Given the description of an element on the screen output the (x, y) to click on. 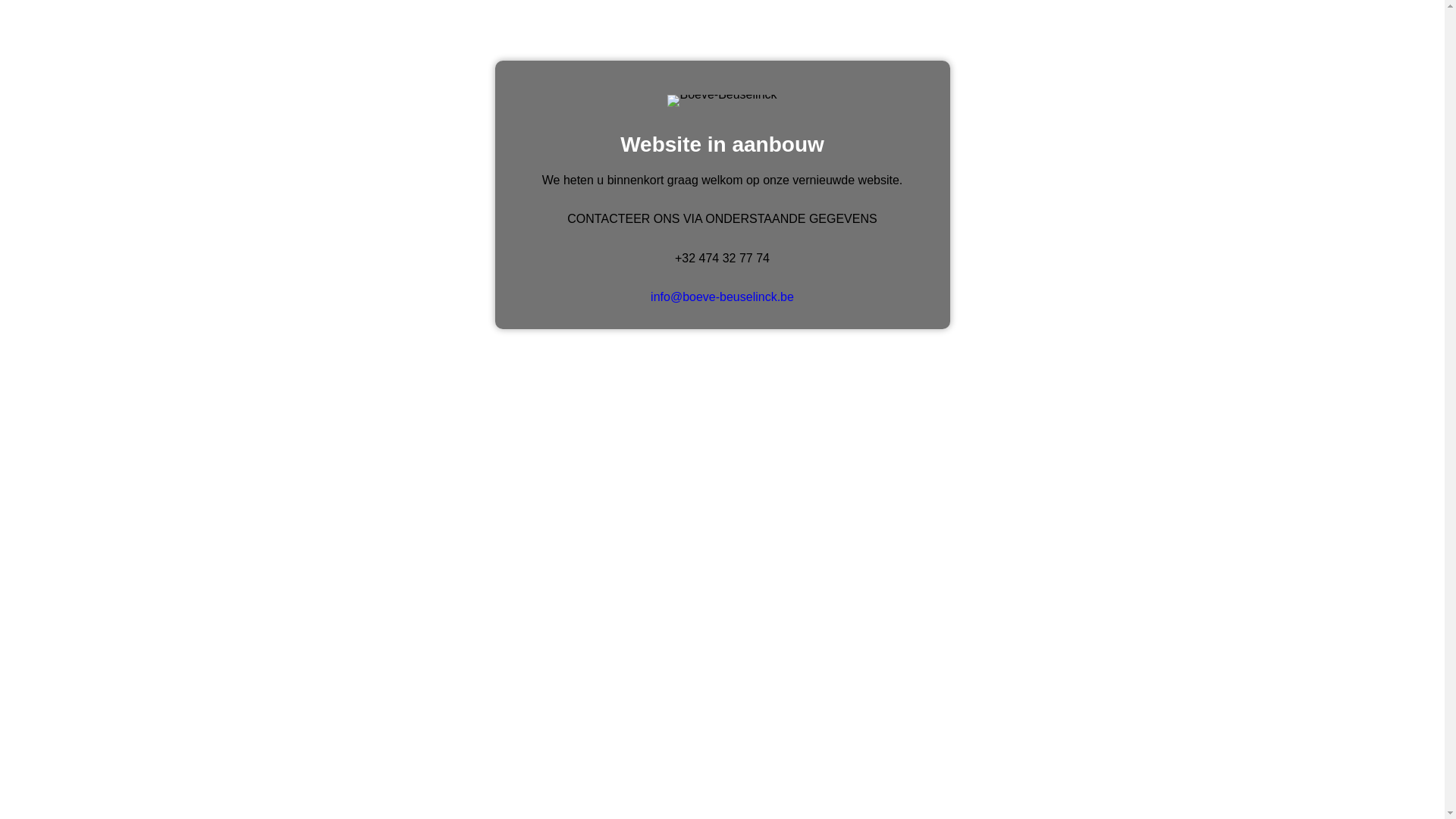
Boeve-Beuselinck Element type: hover (721, 100)
info@boeve-beuselinck.be Element type: text (721, 296)
